Given the description of an element on the screen output the (x, y) to click on. 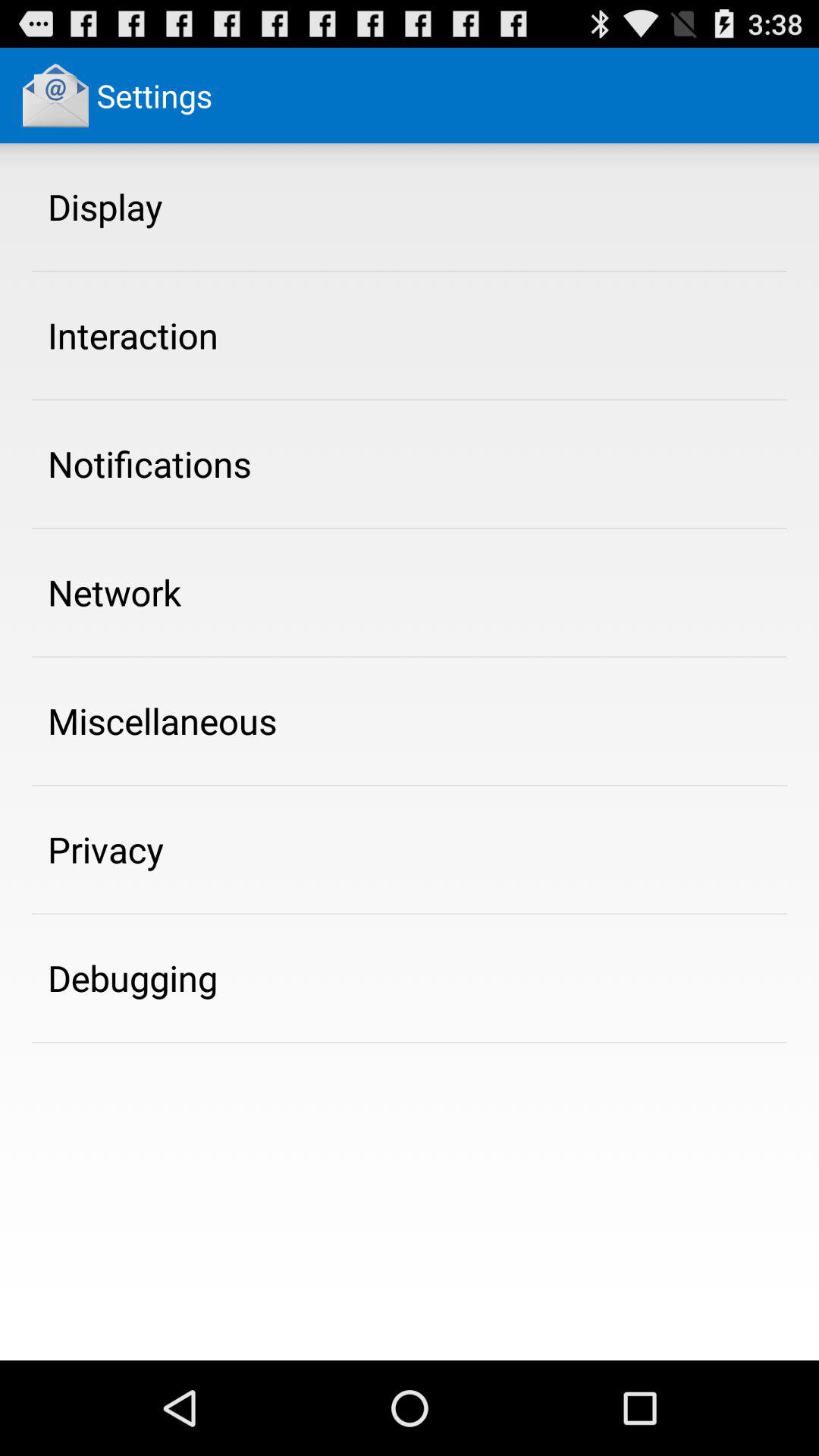
tap app below miscellaneous item (105, 849)
